Given the description of an element on the screen output the (x, y) to click on. 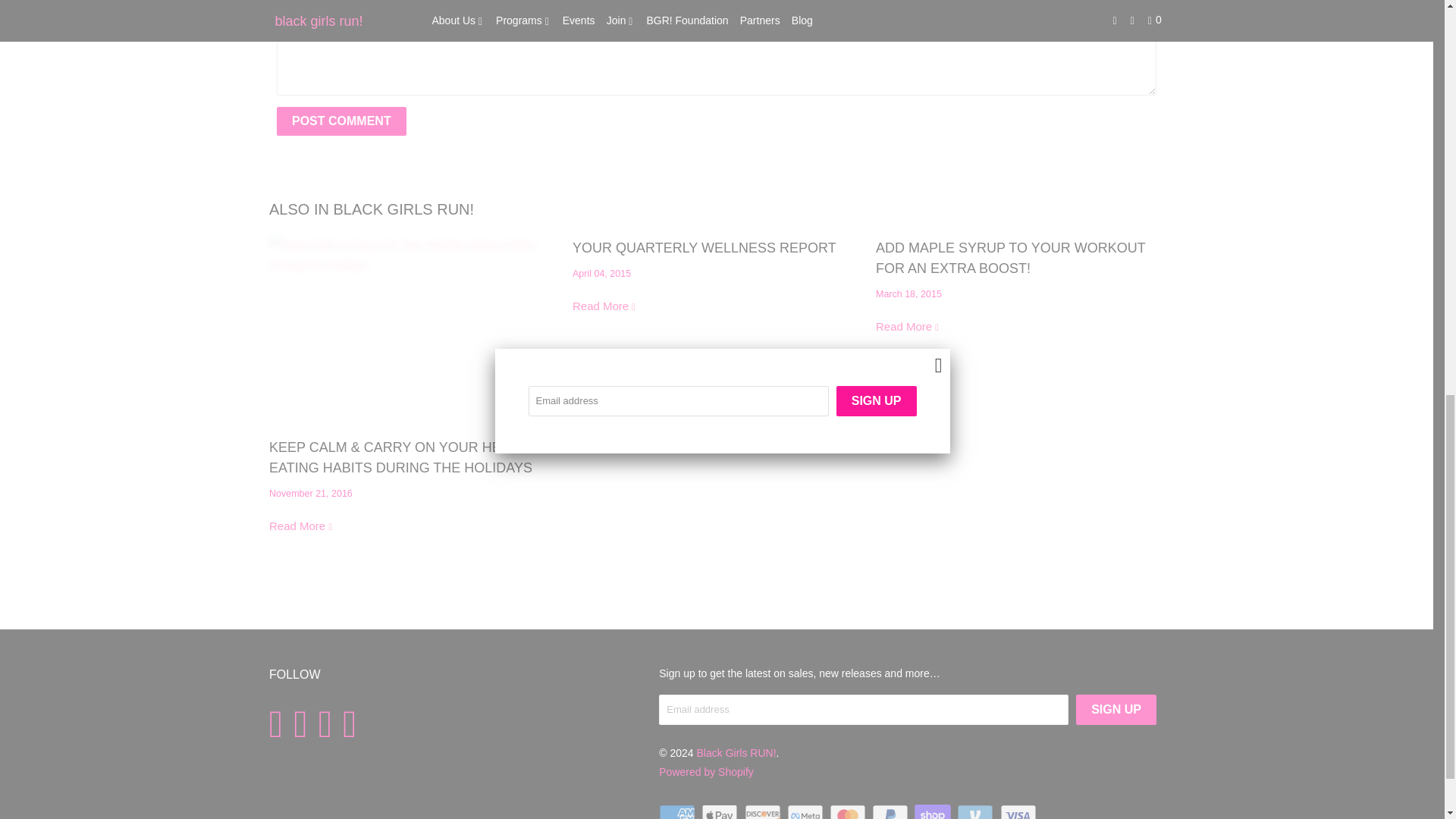
Post comment (341, 121)
Shop Pay (933, 811)
Add Maple Syrup to Your Workout for an Extra Boost! (908, 326)
Add Maple Syrup to Your Workout for an Extra Boost! (1010, 258)
American Express (678, 811)
PayPal (891, 811)
Your Quarterly Wellness Report (604, 305)
Your Quarterly Wellness Report (703, 247)
Discover (764, 811)
Visa (1019, 811)
Mastercard (849, 811)
Apple Pay (721, 811)
Venmo (975, 811)
Sign Up (1115, 709)
Meta Pay (807, 811)
